Given the description of an element on the screen output the (x, y) to click on. 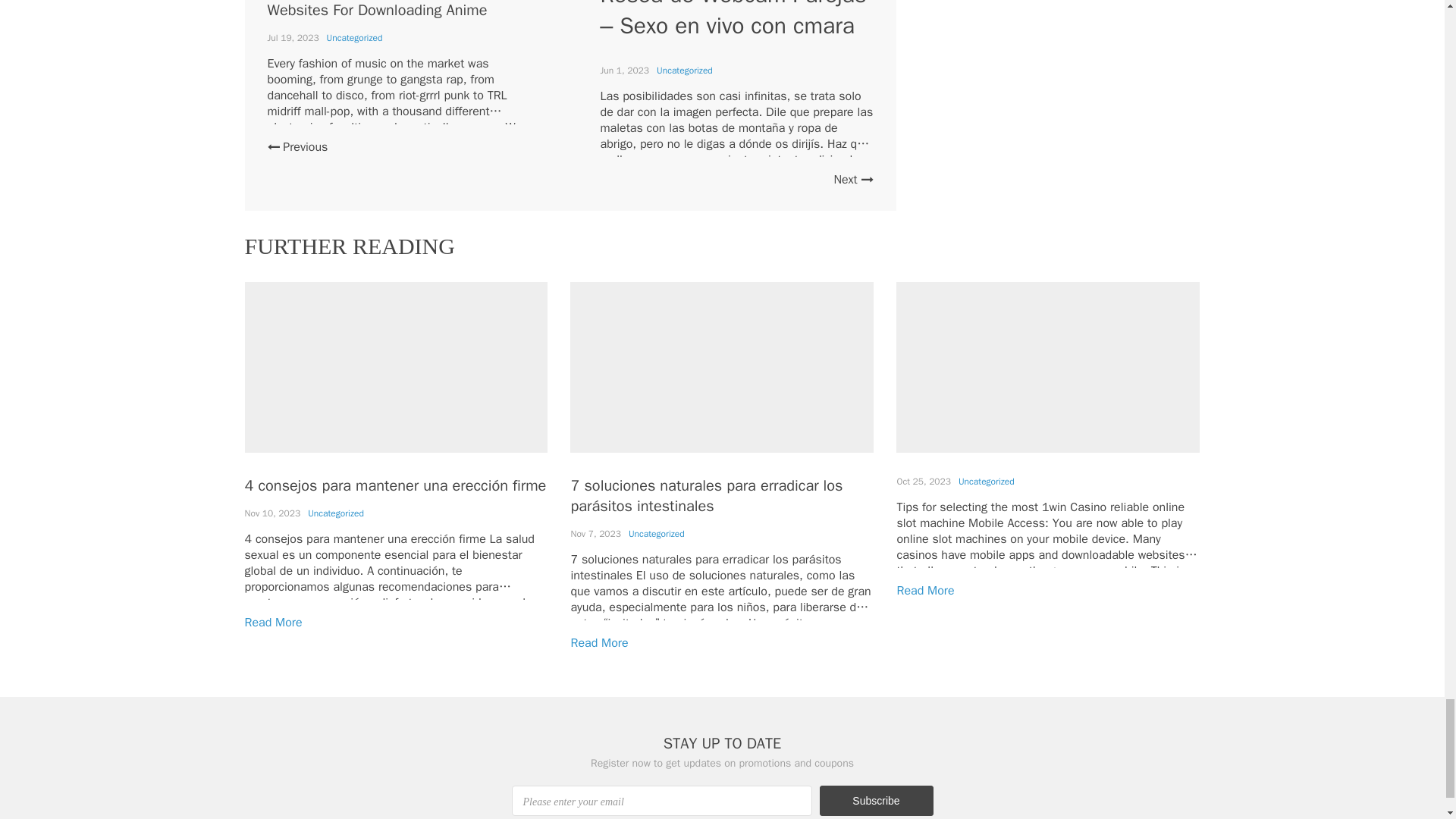
Subscribe (875, 800)
